Given the description of an element on the screen output the (x, y) to click on. 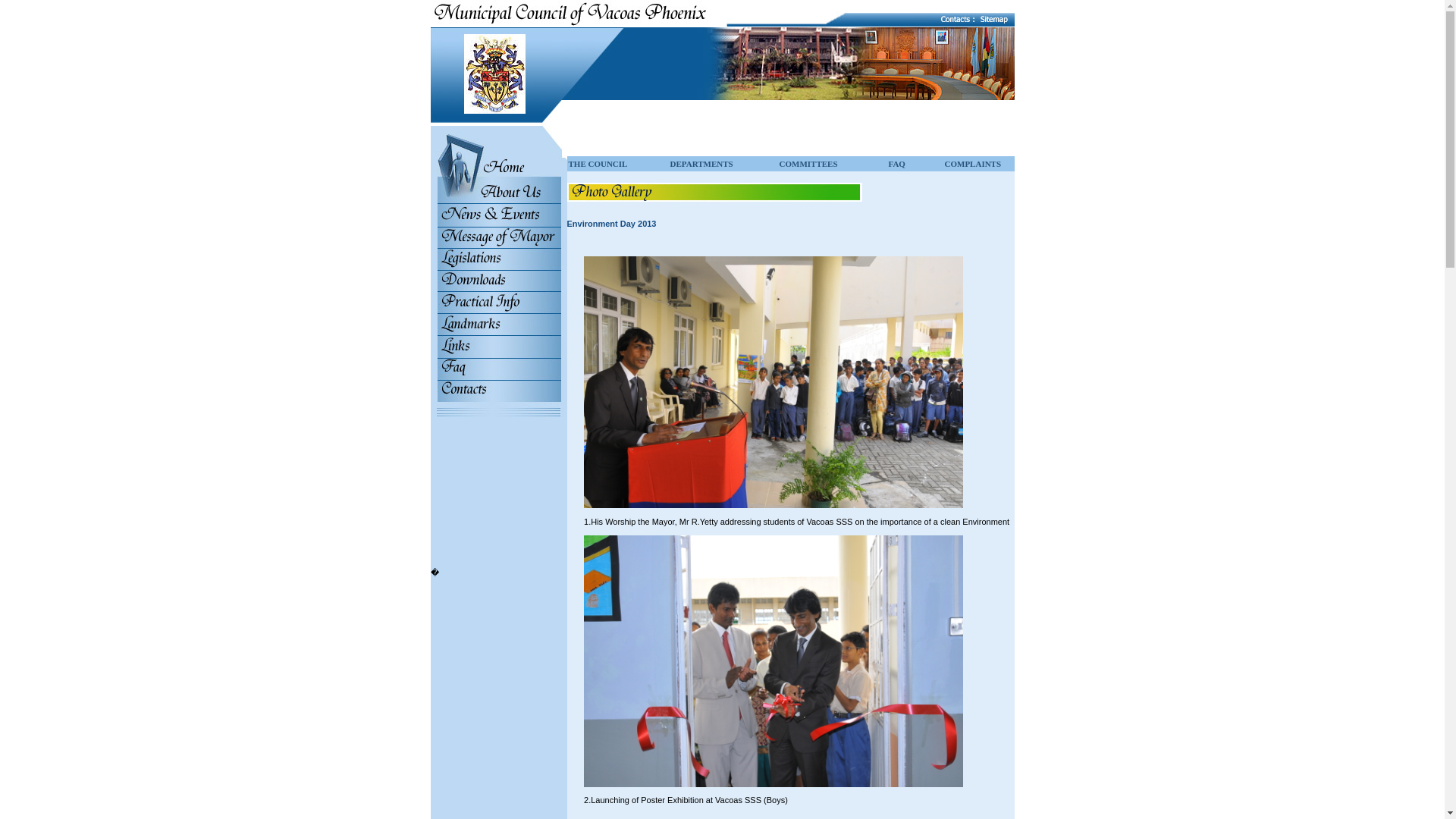
COMPLAINTS (972, 163)
THE COUNCIL (598, 163)
FAQ (896, 163)
DEPARTMENTS (701, 163)
COMMITTEES (808, 163)
